Given the description of an element on the screen output the (x, y) to click on. 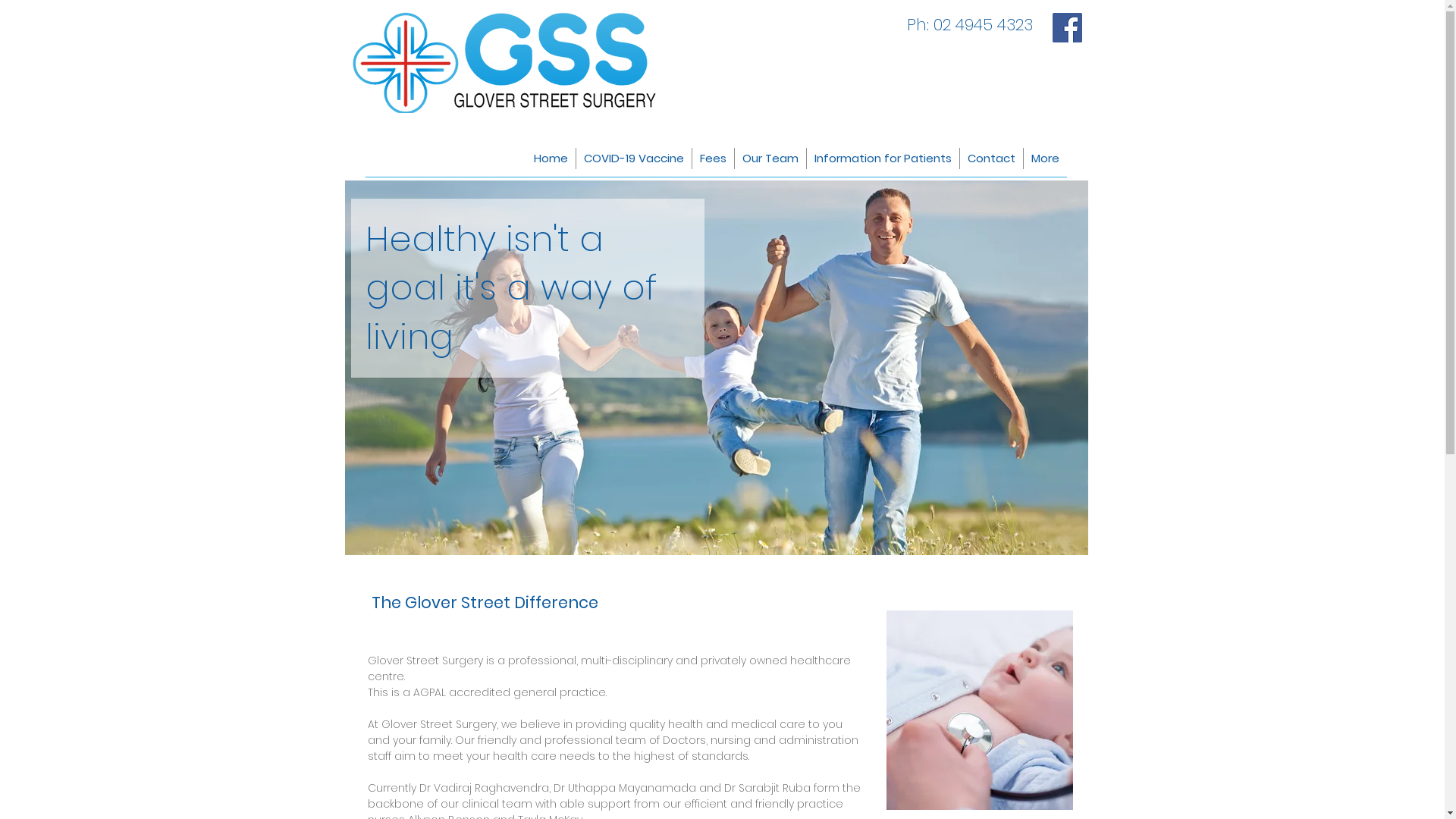
Information for Patients Element type: text (882, 158)
COVID-19 Vaccine Element type: text (633, 158)
Our Team Element type: text (769, 158)
Contact Element type: text (991, 158)
Fees Element type: text (712, 158)
Home Element type: text (550, 158)
